Given the description of an element on the screen output the (x, y) to click on. 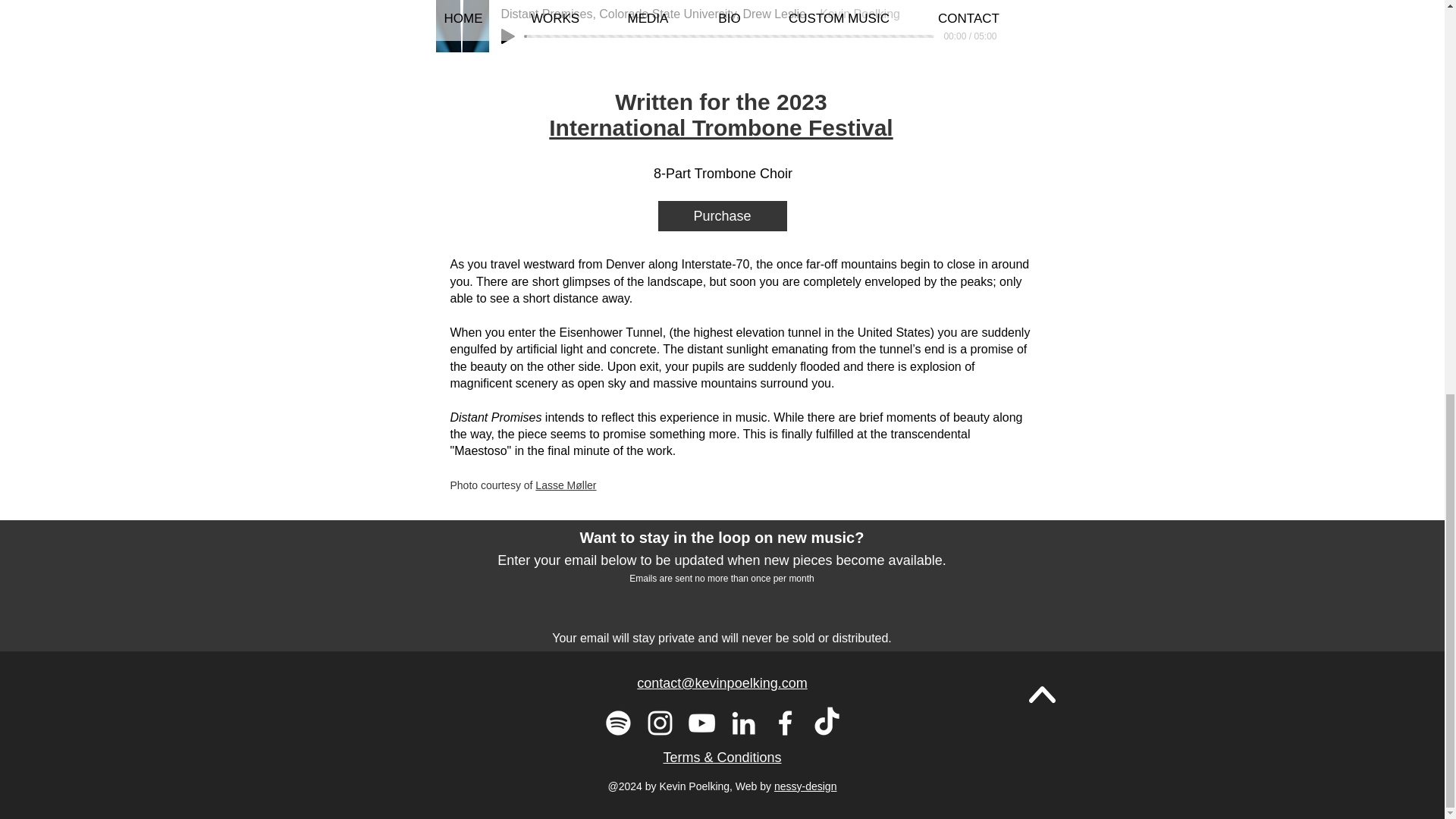
Purchase (722, 215)
International Trombone Festival (720, 140)
Written for the 2023 (720, 101)
nessy-design (805, 786)
0 (729, 36)
